Given the description of an element on the screen output the (x, y) to click on. 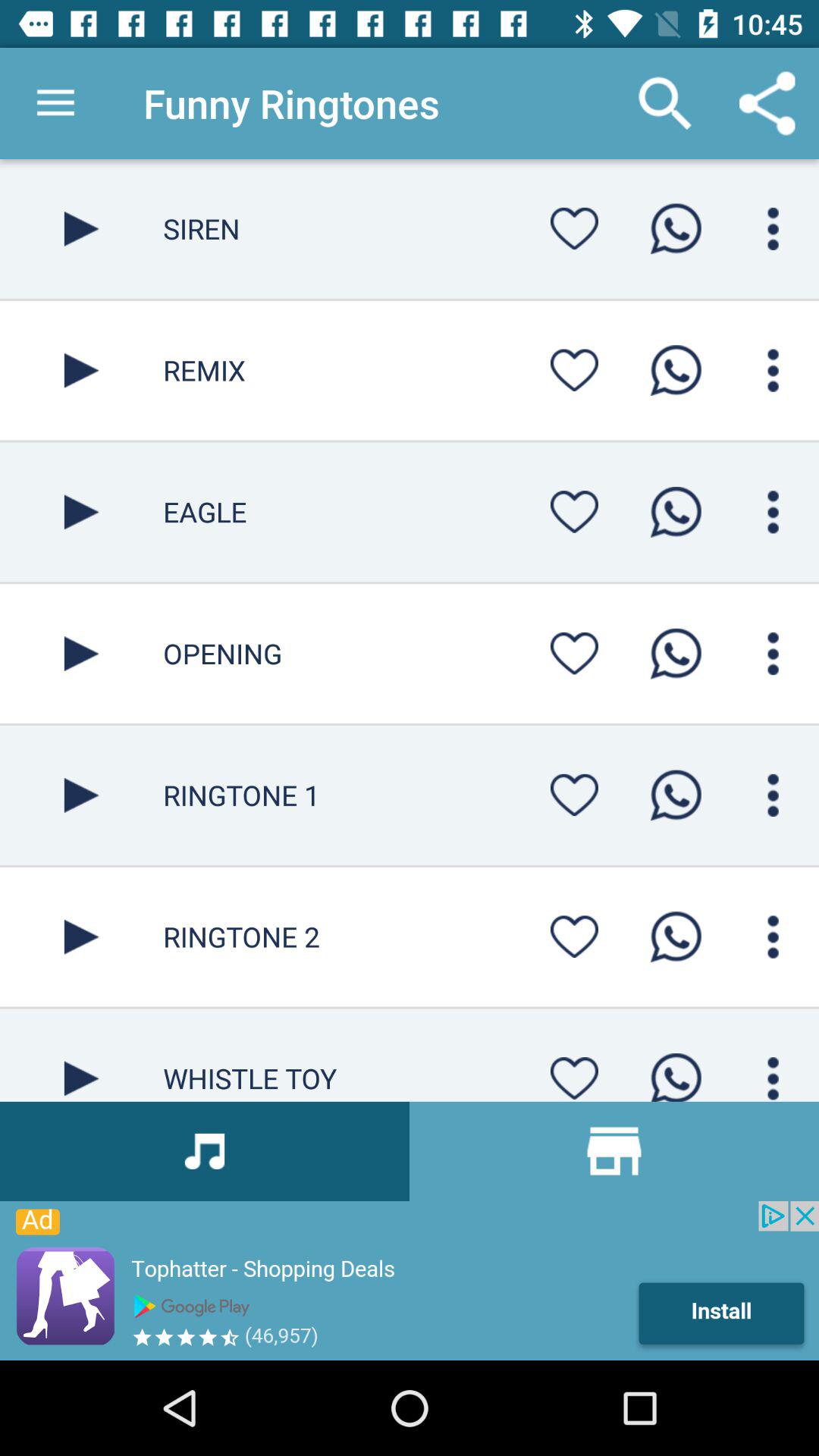
play button (81, 653)
